Given the description of an element on the screen output the (x, y) to click on. 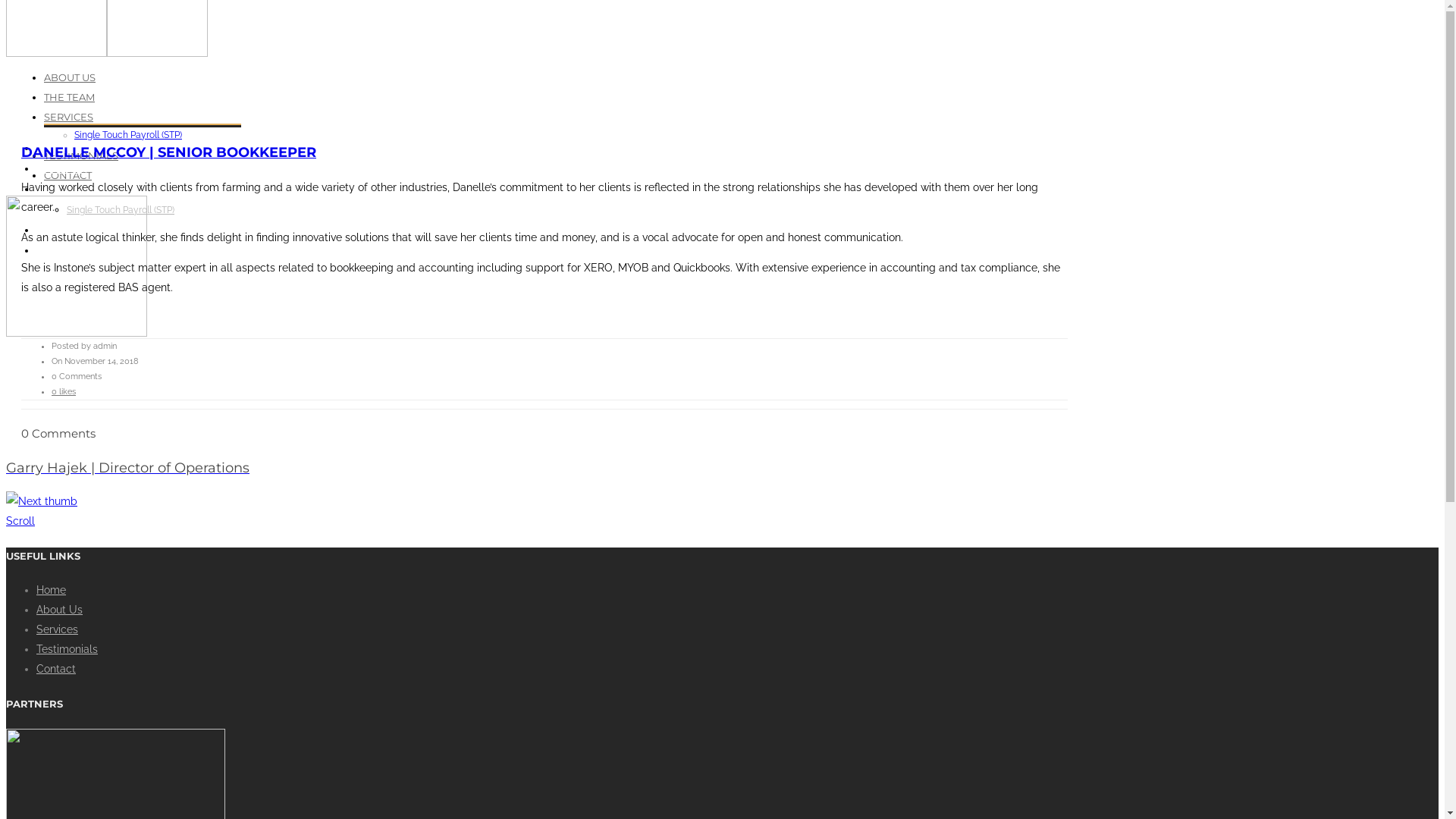
CONTACT Element type: text (67, 174)
DANELLE MCCOY | SENIOR BOOKKEEPER Element type: text (168, 152)
Scroll Element type: text (20, 520)
Single Touch Payroll (STP) Element type: text (120, 209)
ABOUT US Element type: text (61, 148)
THE TEAM Element type: text (68, 97)
THE TEAM Element type: text (61, 168)
TESTIMONIALS Element type: text (72, 230)
Single Touch Payroll (STP) Element type: text (128, 133)
ABOUT US Element type: text (69, 77)
TESTIMONIALS Element type: text (80, 154)
Garry Hajek | Director of Operations Element type: text (722, 484)
Home Element type: text (50, 589)
About Us Element type: text (59, 609)
SERVICES Element type: text (68, 116)
0 likes Element type: text (63, 391)
Testimonials Element type: text (66, 649)
Contact Element type: text (55, 668)
Services Element type: text (57, 629)
SERVICES Element type: text (60, 189)
CONTACT Element type: text (59, 250)
